Given the description of an element on the screen output the (x, y) to click on. 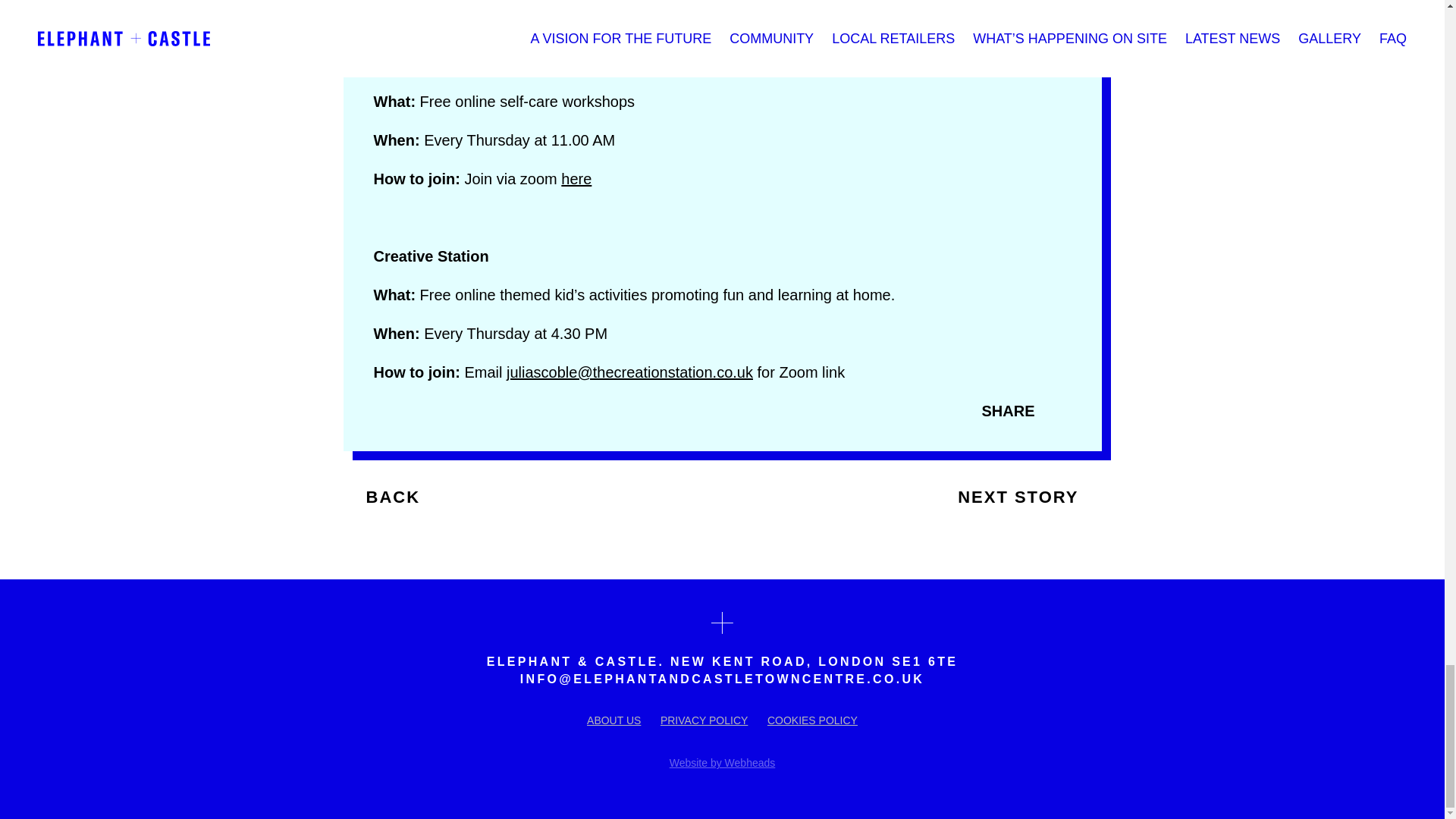
BACK (381, 496)
PRIVACY POLICY (704, 720)
TWITTER (433, 407)
NEXT STORY (1029, 496)
Website by Webheads (722, 762)
COOKIES POLICY (812, 720)
here (575, 178)
FACEBOOK (381, 407)
LINKEDIN (406, 407)
ABOUT US (613, 720)
Share on Facebook (381, 407)
Share on LinkedIn (406, 407)
Share on Twitter (433, 407)
